Given the description of an element on the screen output the (x, y) to click on. 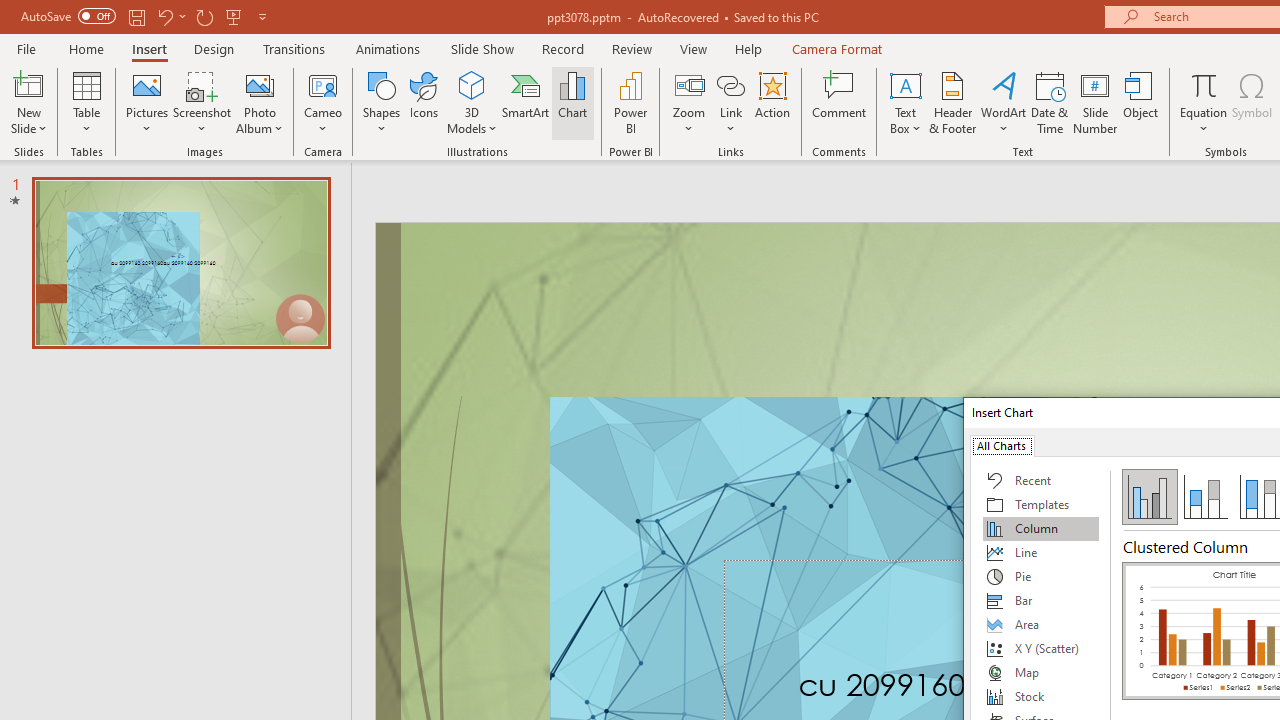
Symbol... (1252, 102)
New Photo Album... (259, 84)
WordArt (1004, 102)
Header & Footer... (952, 102)
Recent (1041, 480)
X Y (Scatter) (1041, 648)
